Given the description of an element on the screen output the (x, y) to click on. 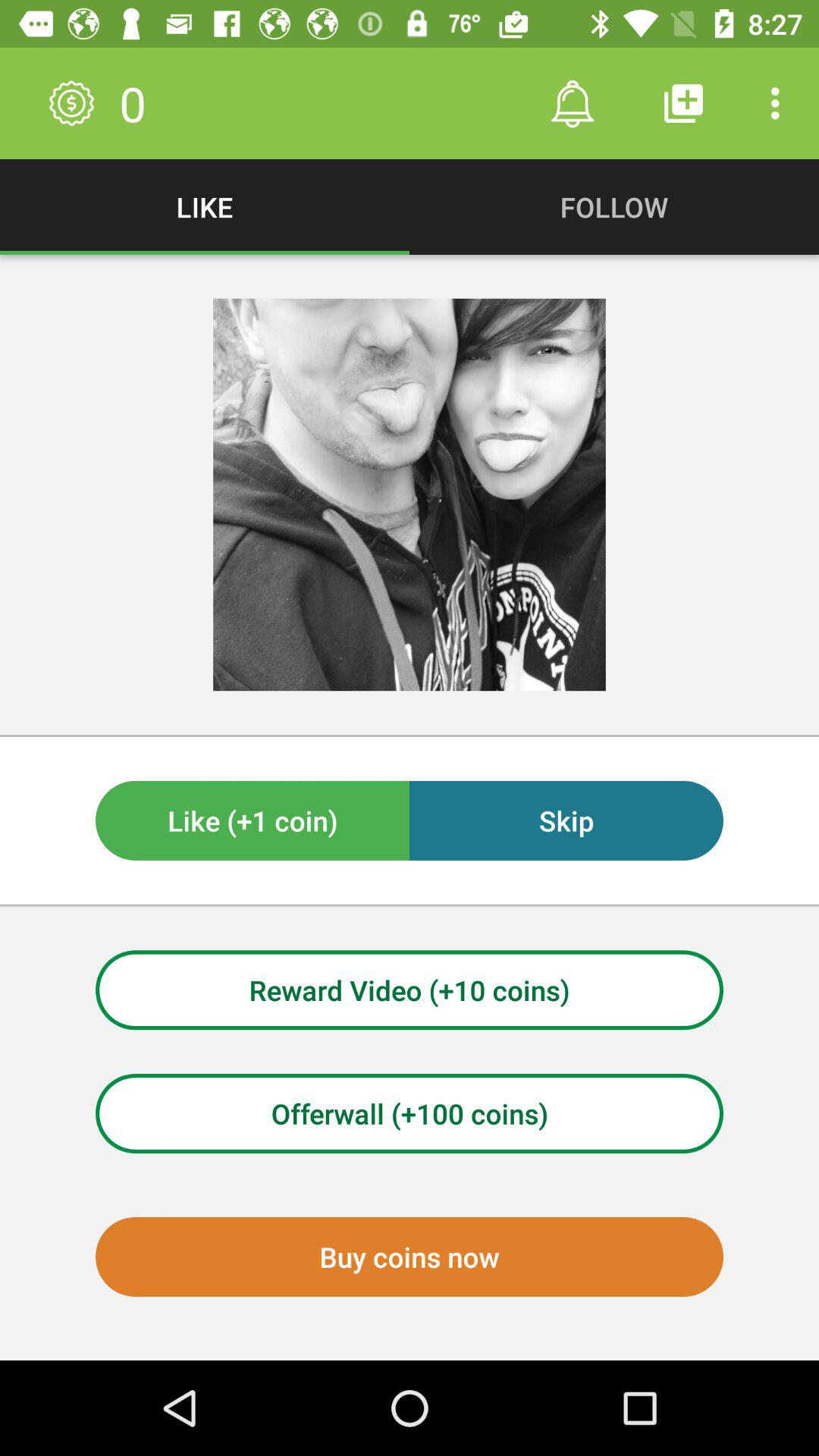
click the icon above the offerwall (+100 coins) item (409, 990)
